Given the description of an element on the screen output the (x, y) to click on. 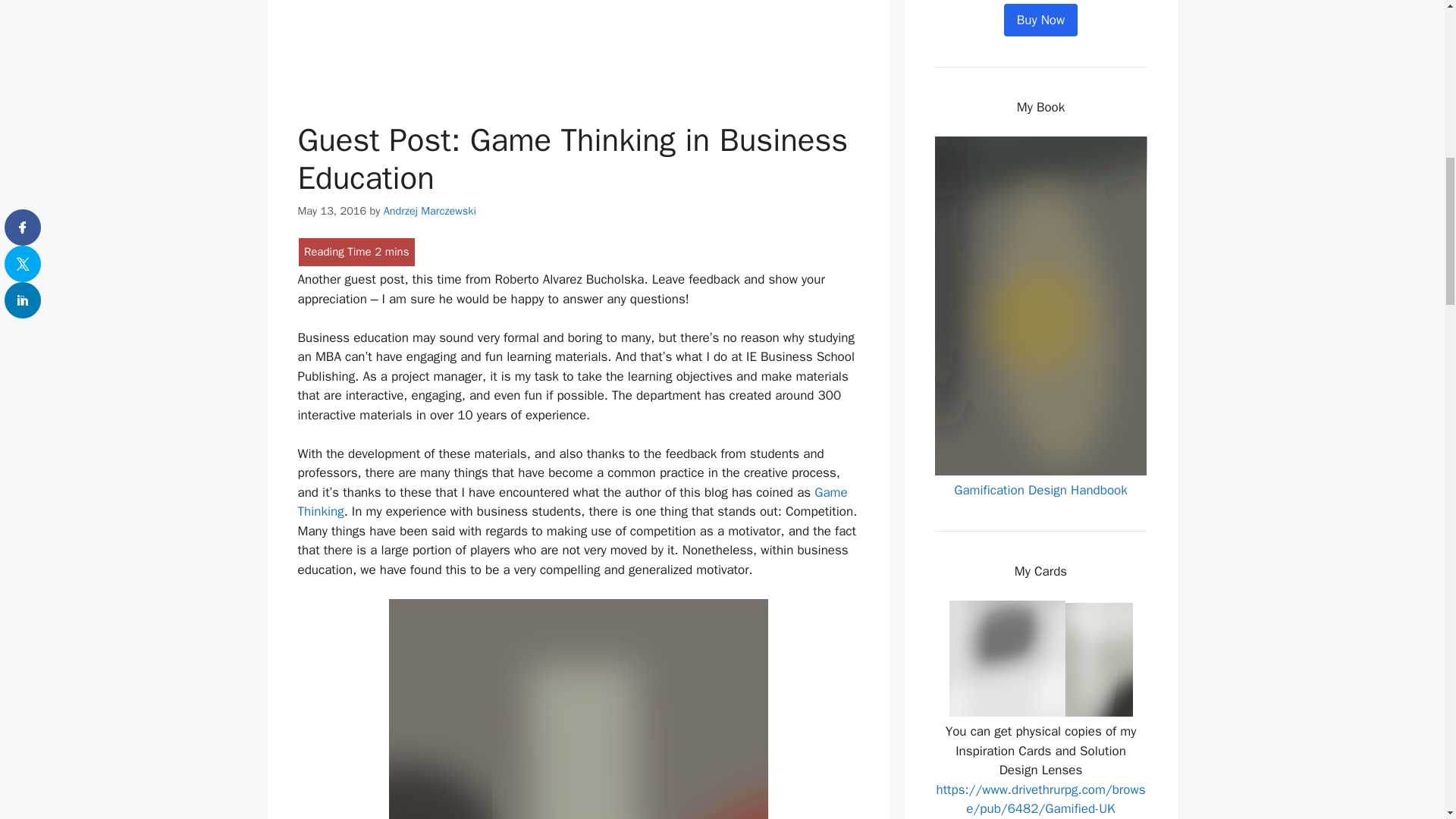
Guest Post Game Thinking in Business Education photo (577, 708)
Andrzej Marczewski (430, 210)
View all posts by Andrzej Marczewski (430, 210)
Game Thinking (572, 502)
Game Thinking (572, 502)
